Given the description of an element on the screen output the (x, y) to click on. 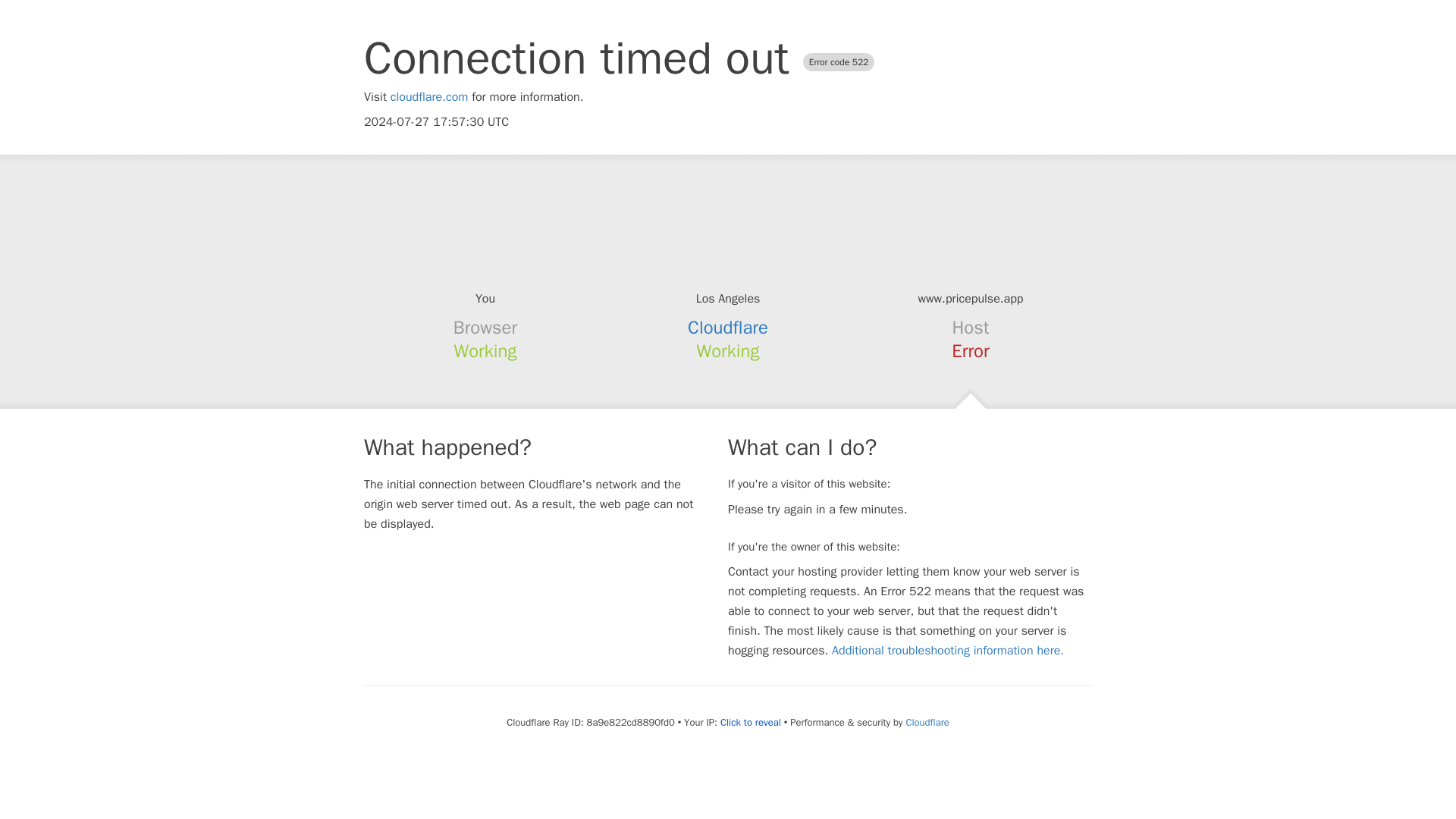
Cloudflare (727, 327)
Cloudflare (927, 721)
Additional troubleshooting information here. (947, 650)
cloudflare.com (429, 96)
Click to reveal (750, 722)
